Given the description of an element on the screen output the (x, y) to click on. 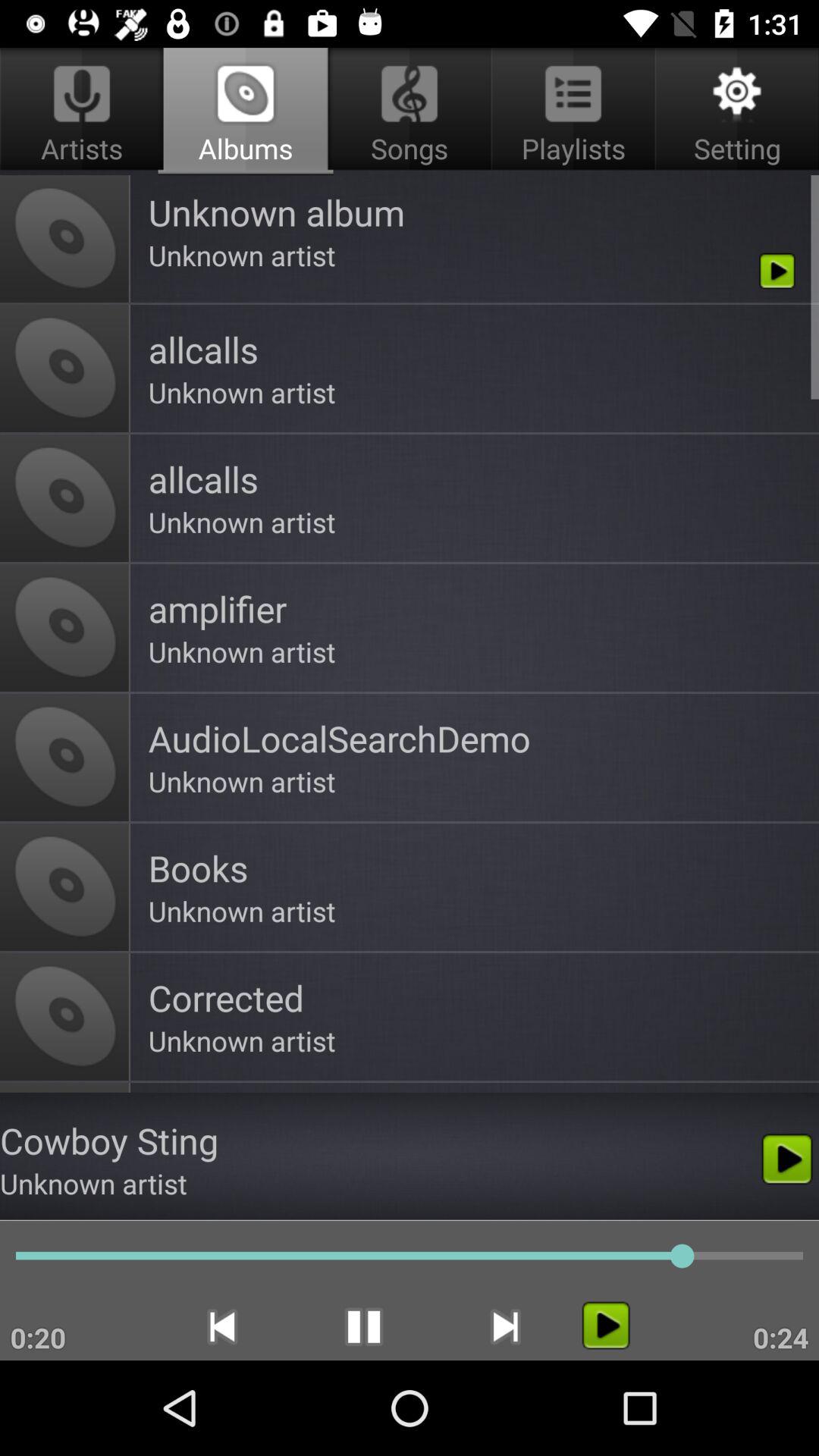
launch the item to the left of the playlists item (245, 111)
